Given the description of an element on the screen output the (x, y) to click on. 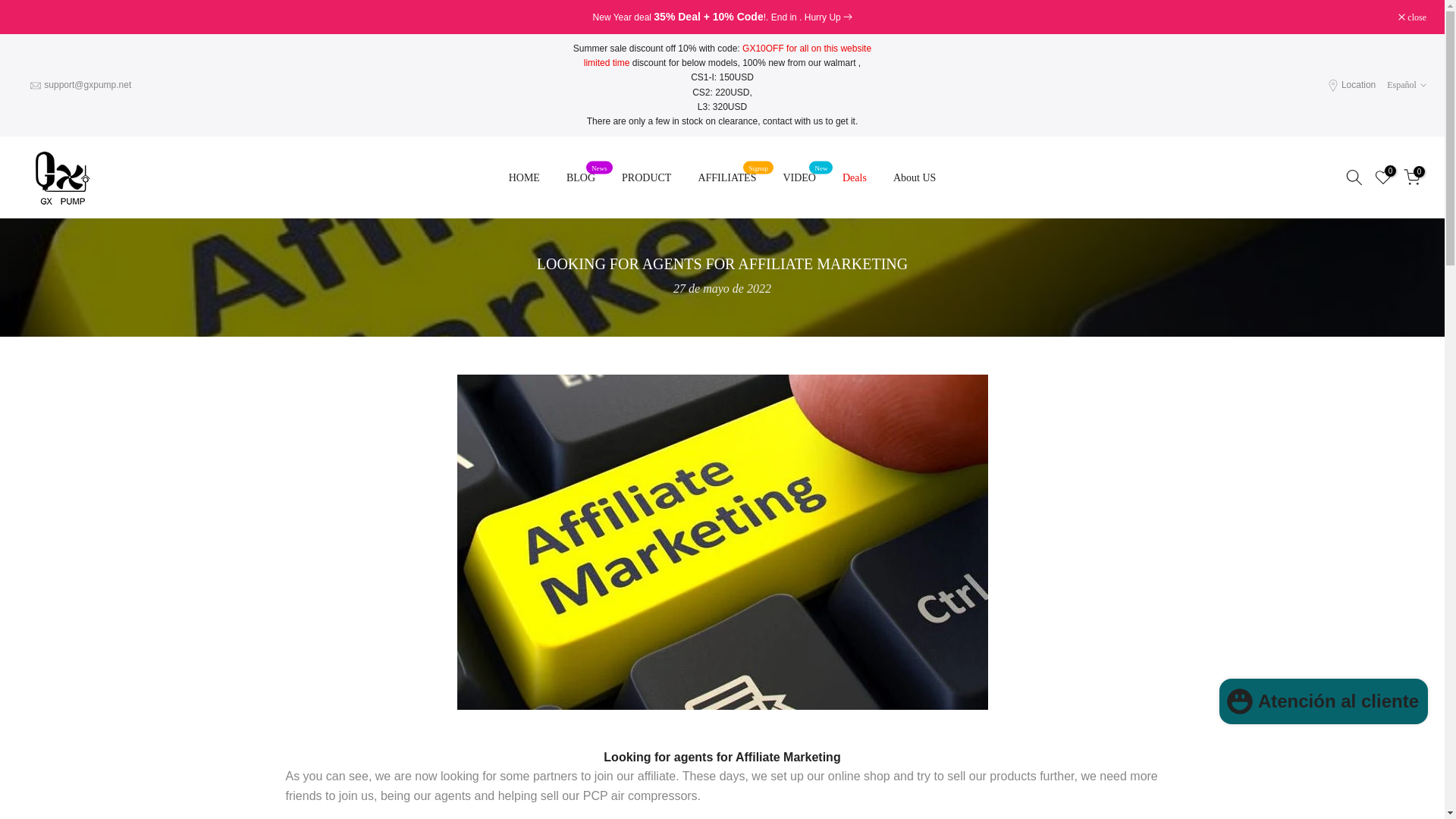
close (1411, 16)
Skip to content (10, 7)
Location (1357, 84)
HOME (524, 177)
